Given the description of an element on the screen output the (x, y) to click on. 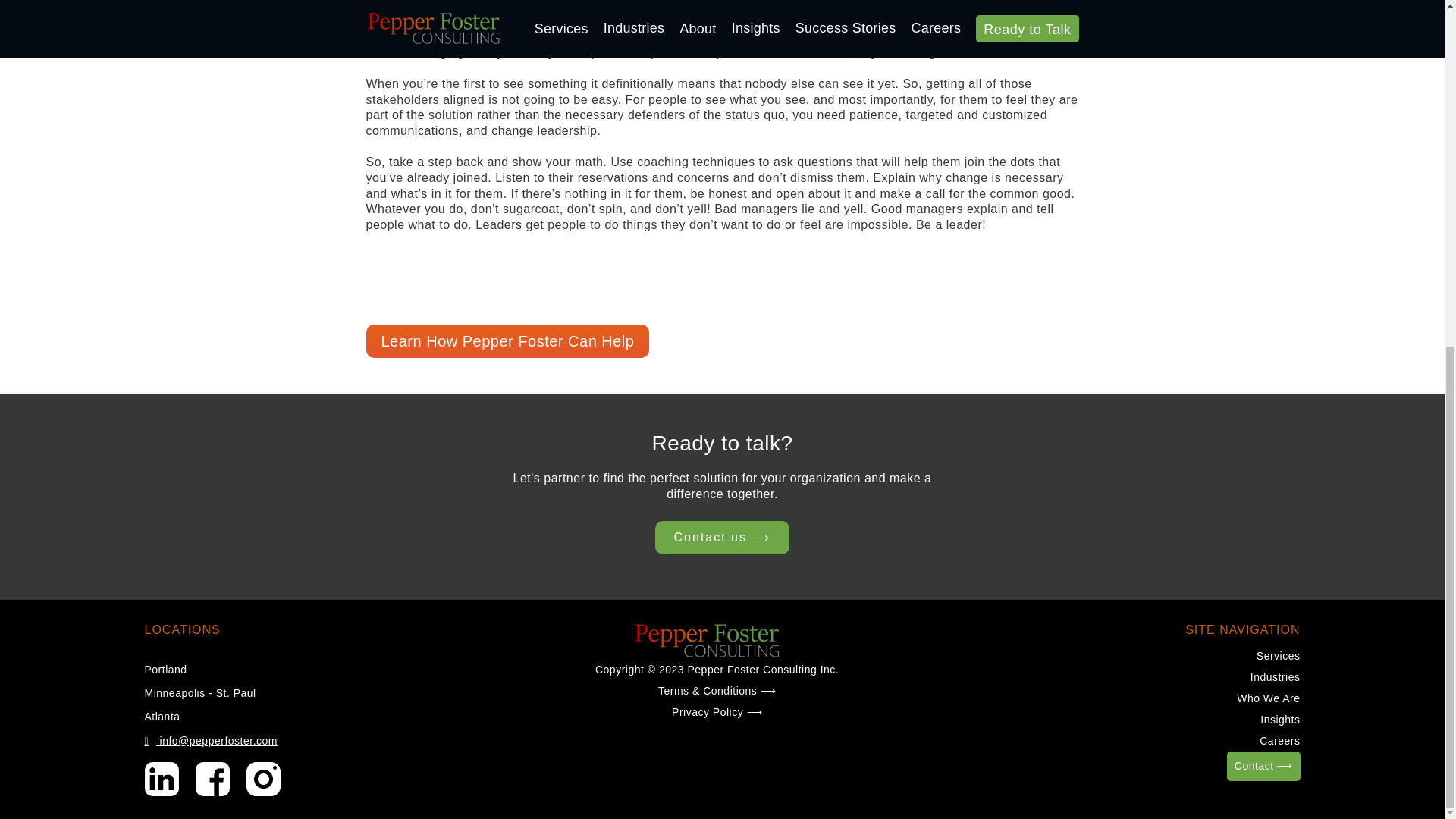
Learn How Pepper Foster Can Help (507, 340)
Minneapolis - St. Paul (200, 693)
Portland (165, 669)
